Given the description of an element on the screen output the (x, y) to click on. 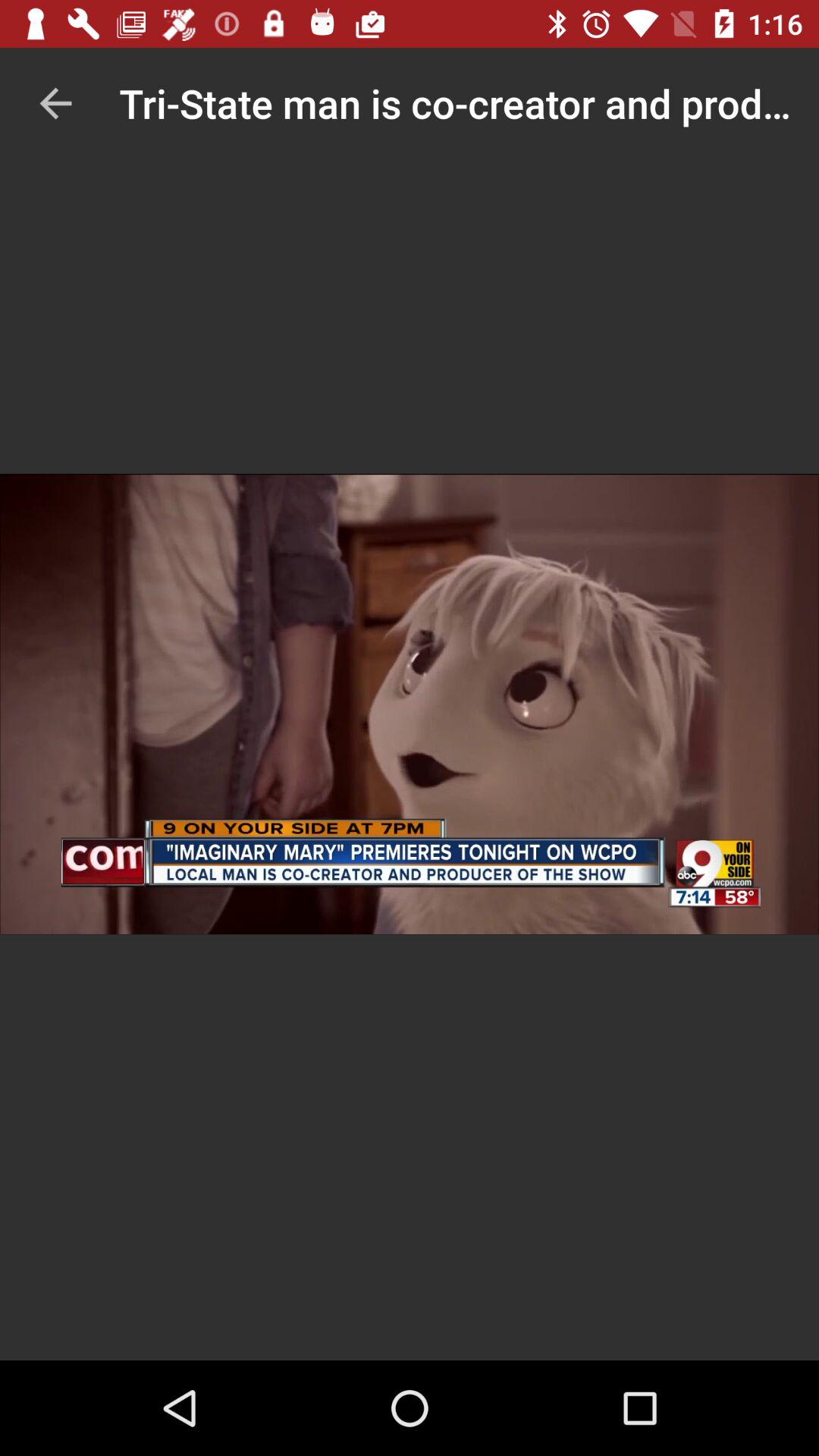
click the item to the left of tri state man item (55, 103)
